Given the description of an element on the screen output the (x, y) to click on. 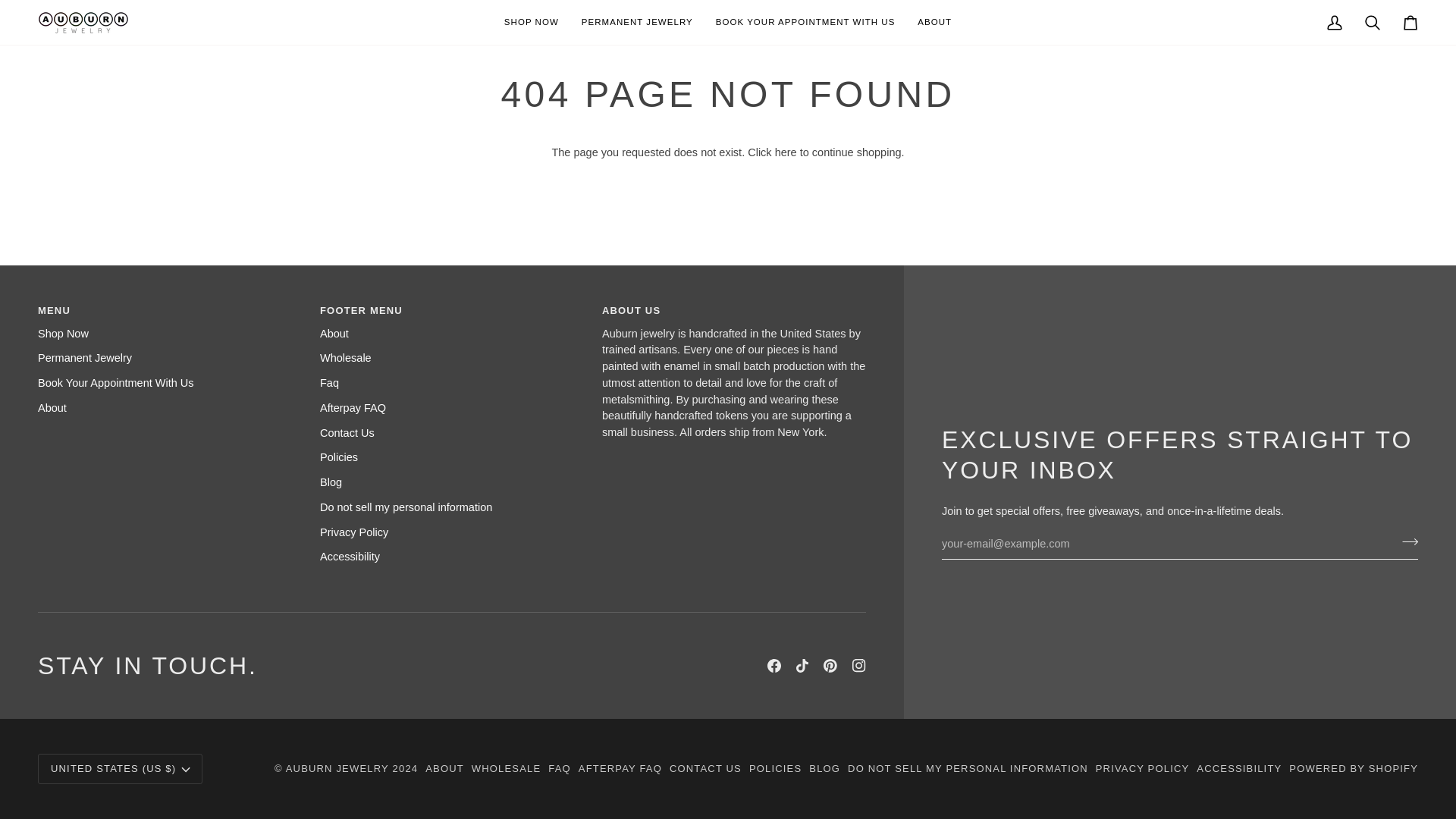
BOOK YOUR APPOINTMENT WITH US (805, 22)
Instagram (858, 665)
PERMANENT JEWELRY (637, 22)
Facebook (773, 665)
SHOP NOW (531, 22)
ABOUT (933, 22)
Pinterest (830, 665)
